Given the description of an element on the screen output the (x, y) to click on. 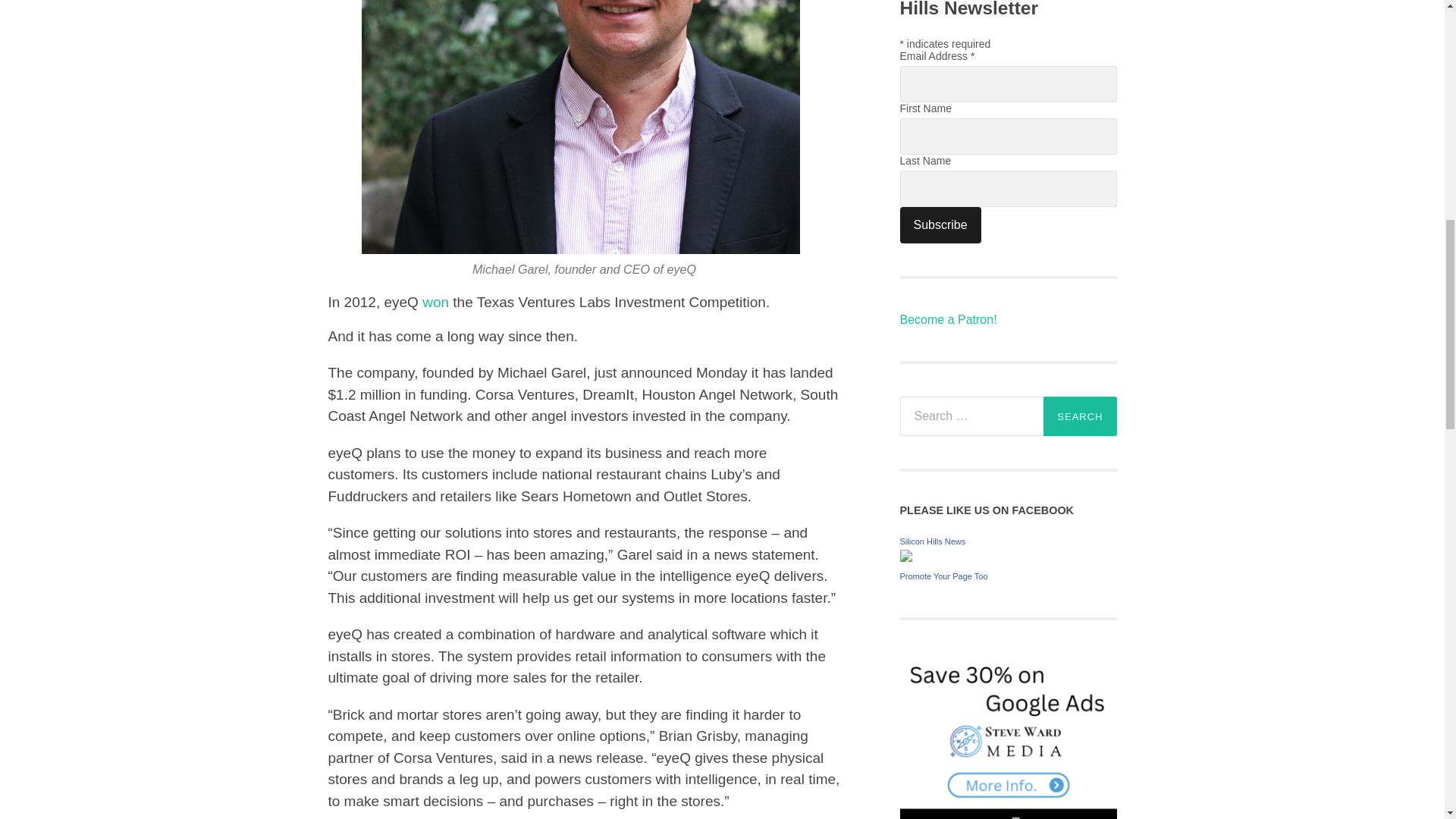
Subscribe (939, 225)
Subscribe (939, 225)
won (435, 302)
Search (1079, 415)
Search (1079, 415)
Silicon Hills News (905, 557)
Silicon Hills News (932, 541)
Make your own badge! (943, 575)
